Given the description of an element on the screen output the (x, y) to click on. 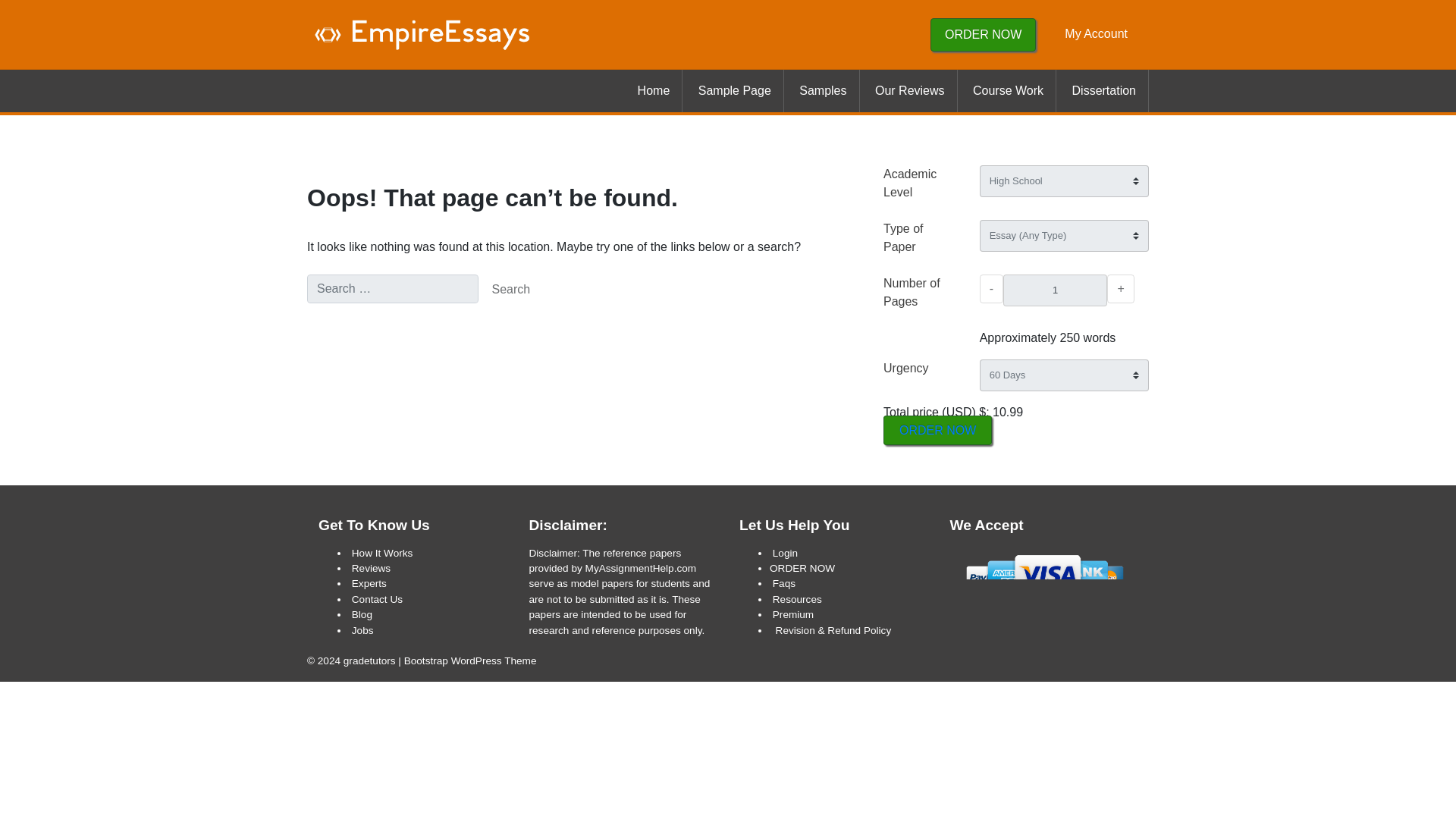
How It Works (382, 552)
Our Reviews (909, 90)
Home (654, 90)
WordPress Technical Support (470, 660)
Premium (793, 614)
Reviews (371, 568)
Search (510, 289)
ORDER NOW (937, 430)
Login (785, 552)
Course Work (1007, 90)
